Given the description of an element on the screen output the (x, y) to click on. 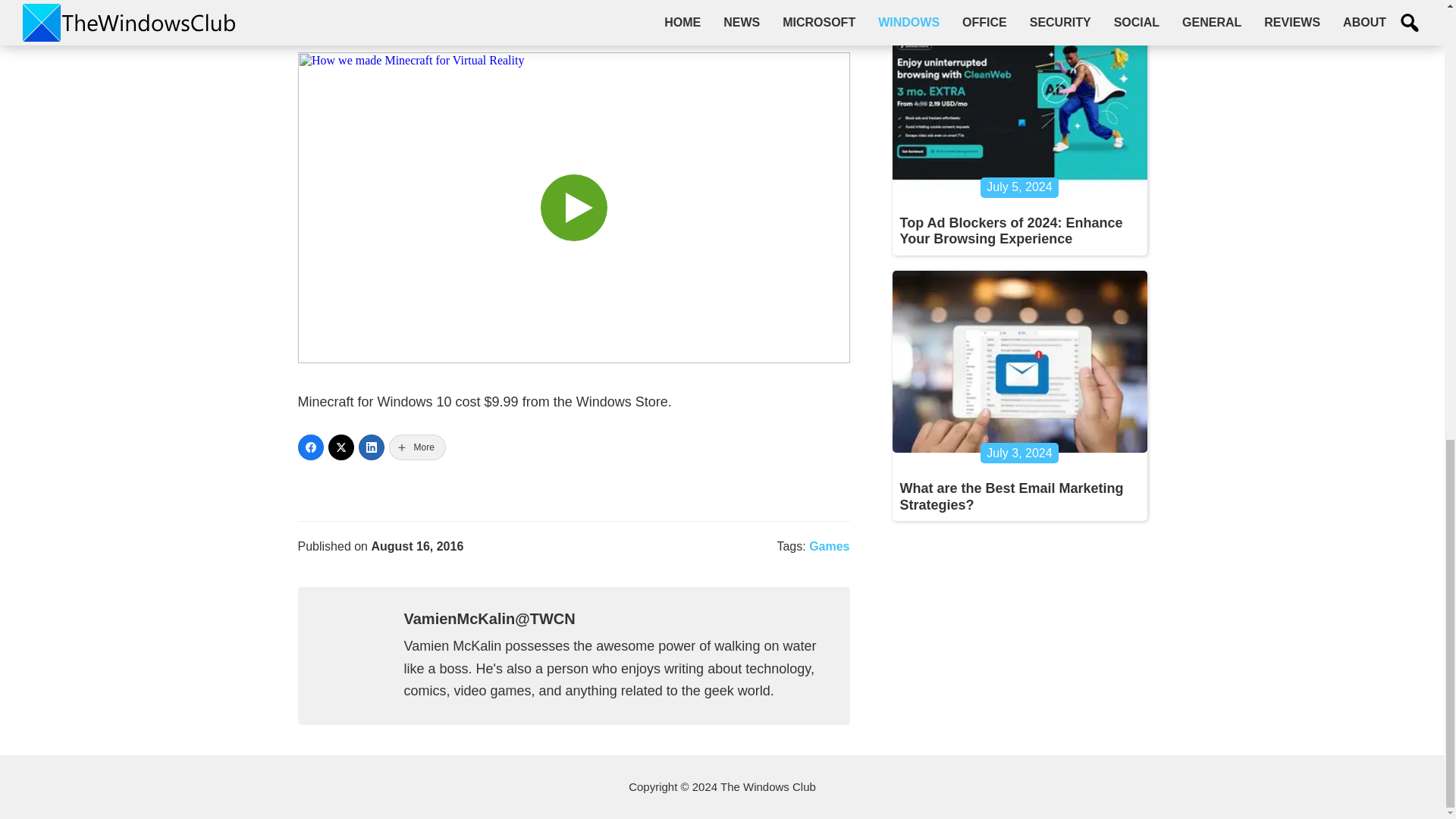
More (416, 447)
Games (828, 545)
What are the Best Email Marketing Strategies? (1010, 496)
Top Ad Blockers of 2024: Enhance Your Browsing Experience (1010, 231)
